Given the description of an element on the screen output the (x, y) to click on. 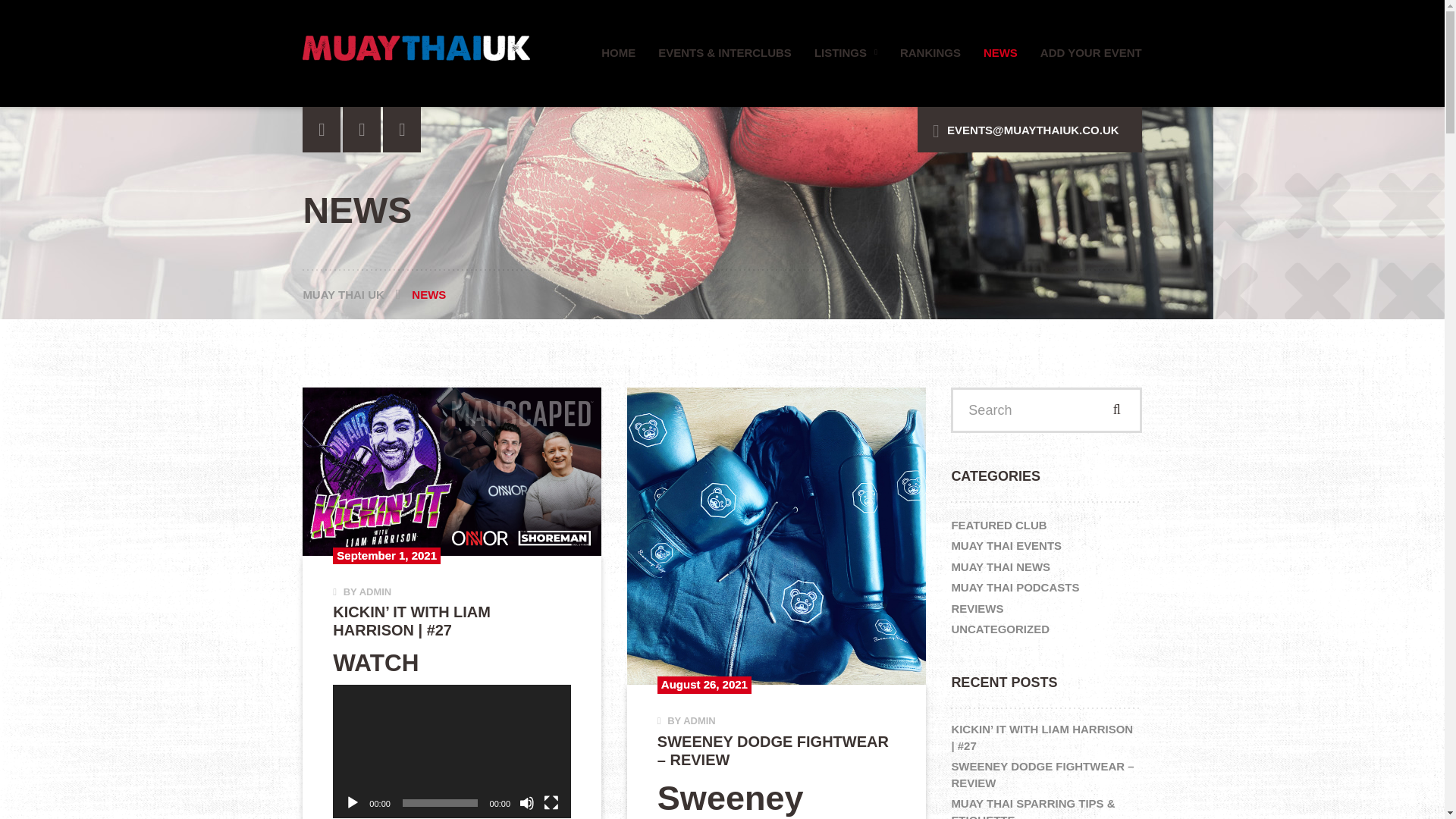
MUAY THAI UK (357, 294)
Mute (526, 802)
Go to Muay Thai UK. (357, 294)
Play (352, 802)
Fullscreen (551, 802)
ADD YOUR EVENT (1085, 58)
